Given the description of an element on the screen output the (x, y) to click on. 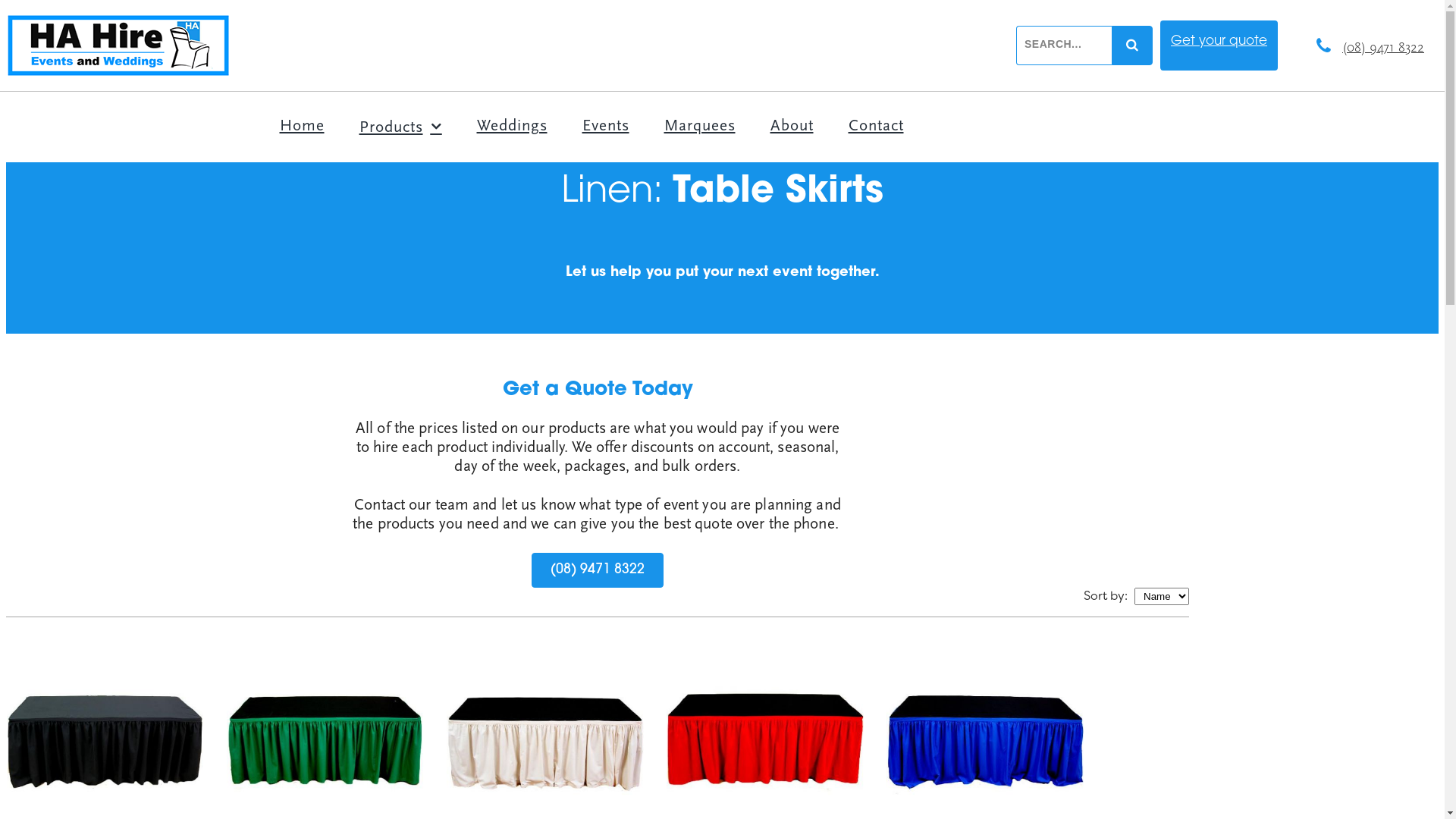
(08) 9471 8322 Element type: text (1383, 47)
Marquees Element type: text (699, 125)
Contact Element type: text (876, 125)
(08) 9471 8322 Element type: text (597, 569)
Products Element type: text (399, 126)
Weddings Element type: text (511, 125)
Get your quote Element type: text (1218, 41)
About Element type: text (791, 125)
Home Element type: text (302, 125)
Events Element type: text (605, 125)
